Given the description of an element on the screen output the (x, y) to click on. 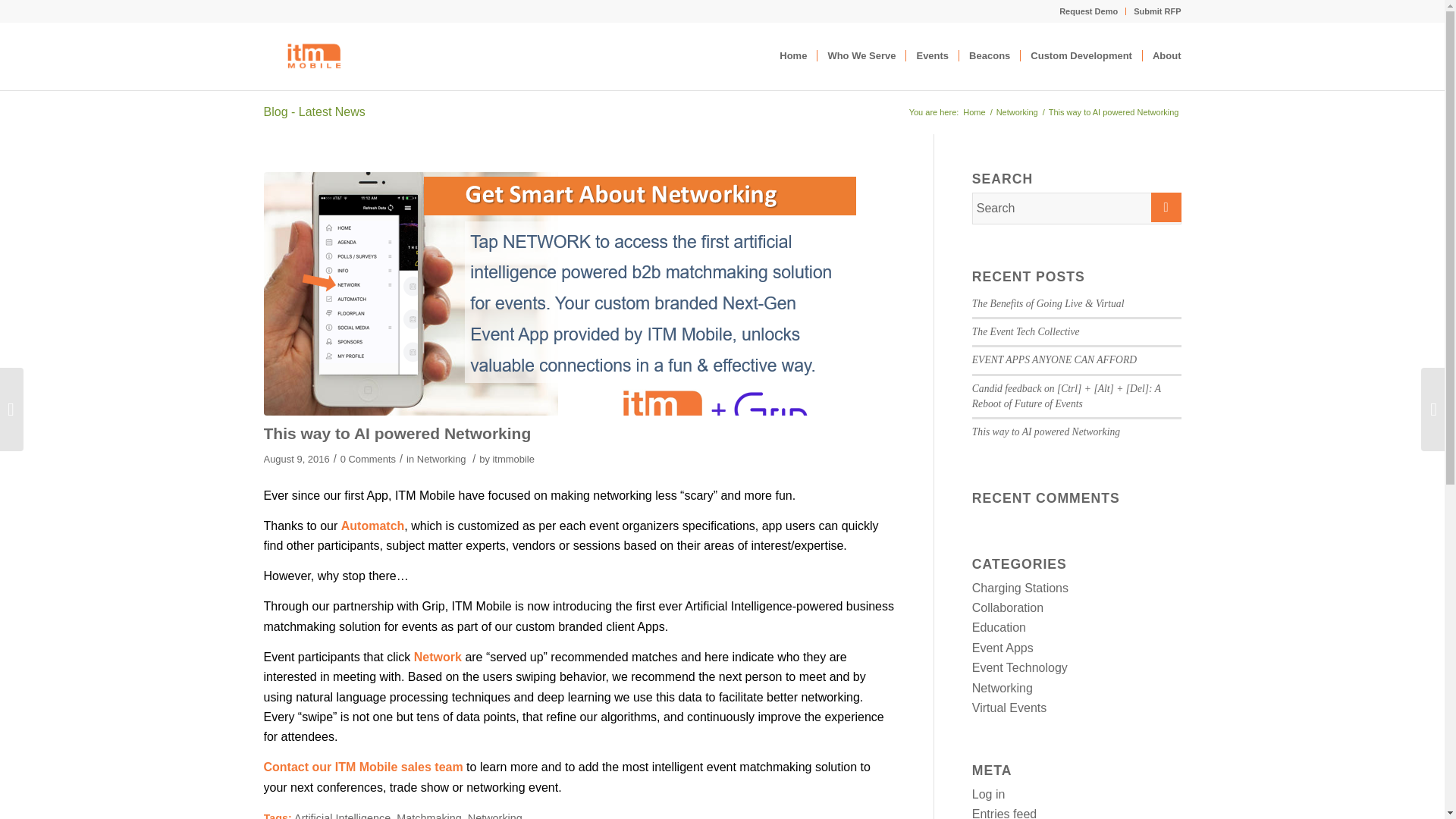
The Event Tech Collective (1026, 331)
This way to AI powered Networking (397, 433)
Custom Development (1080, 56)
Posts by itmmobile (513, 459)
Beacons (989, 56)
Permanent Link: This way to AI powered Networking (397, 433)
EVENT APPS ANYONE CAN AFFORD (1054, 359)
0 Comments (368, 459)
Networking (1017, 112)
Artificial Intelligence (342, 815)
Matchmaking (428, 815)
Permanent Link: Blog - Latest News (314, 111)
Who We Serve (860, 56)
Networking (494, 815)
